Given the description of an element on the screen output the (x, y) to click on. 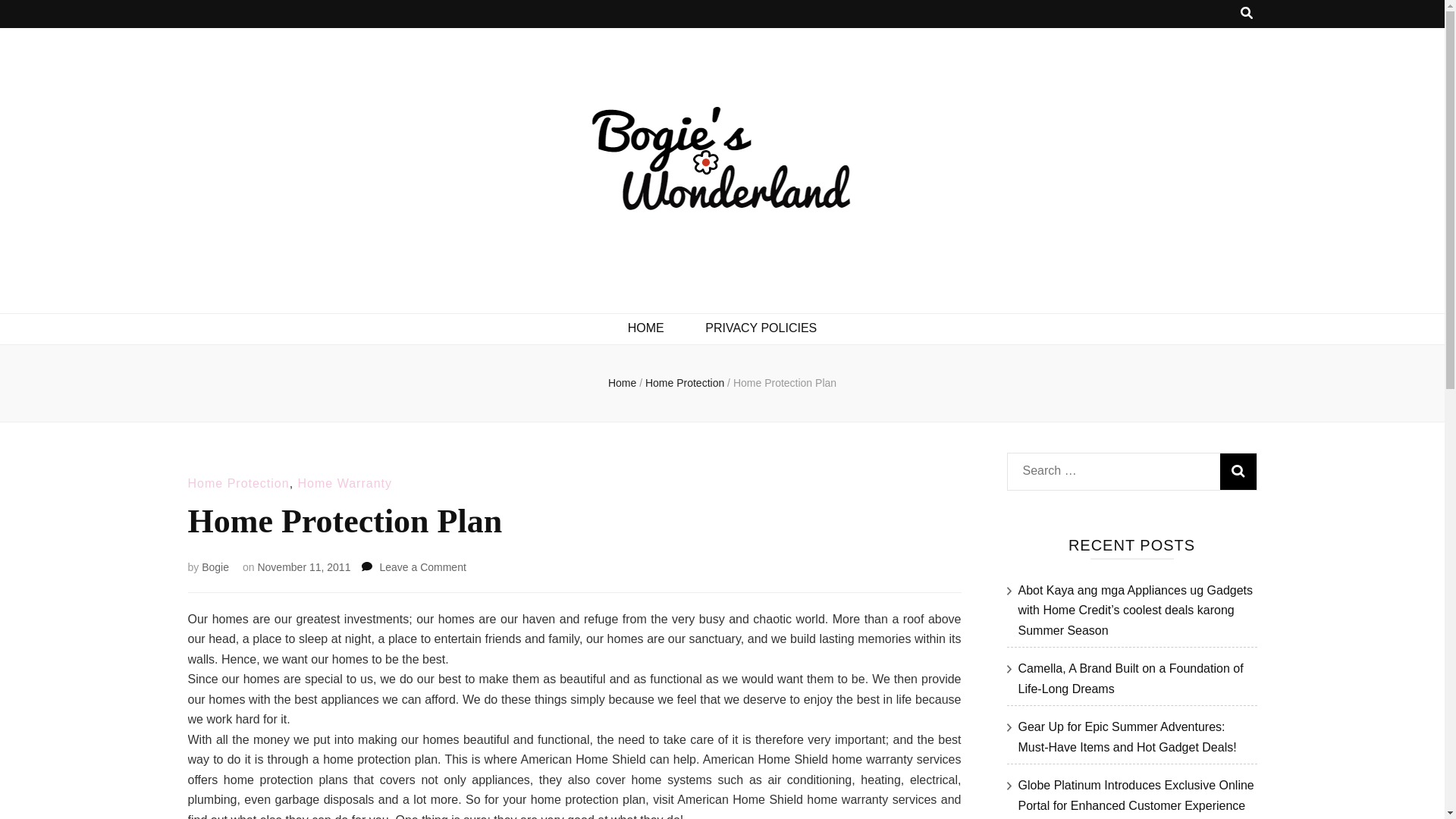
Bogie (215, 567)
Bogie's Wonderland (377, 295)
HOME (645, 328)
November 11, 2011 (421, 567)
Home Protection (303, 567)
Search (685, 382)
Home Protection Plan (1237, 471)
PRIVACY POLICIES (784, 382)
Home Warranty (760, 328)
